Given the description of an element on the screen output the (x, y) to click on. 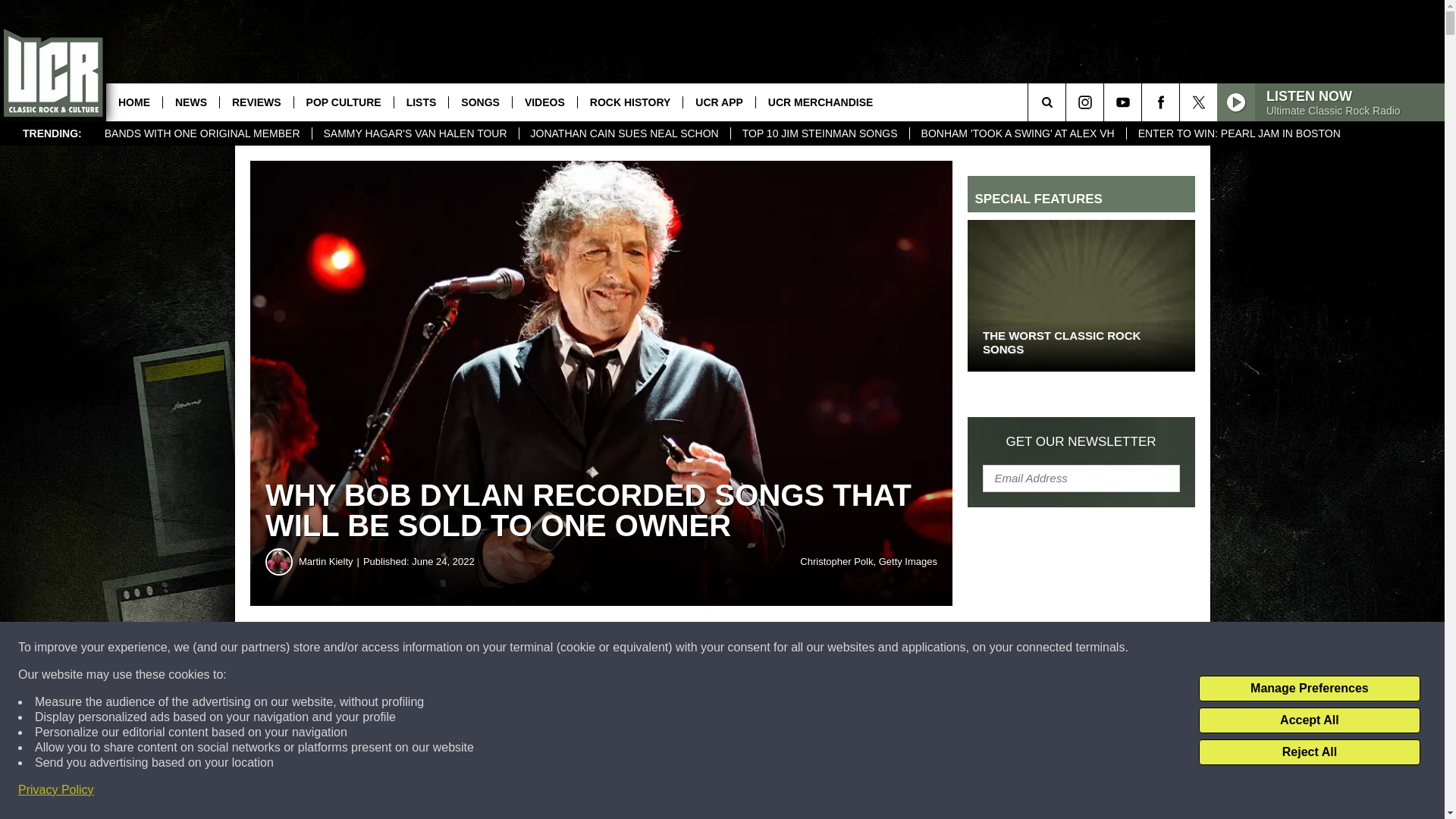
UCR MERCHANDISE (820, 102)
POP CULTURE (343, 102)
ROCK HISTORY (629, 102)
REVIEWS (256, 102)
HOME (133, 102)
SONGS (480, 102)
Privacy Policy (55, 789)
VIDEOS (544, 102)
Visit us on Instagram (1084, 102)
Accept All (1309, 720)
Visit us on Facebook (1160, 102)
TRENDING: (52, 133)
NEWS (190, 102)
Bob Dylan (356, 700)
TOP 10 JIM STEINMAN SONGS (819, 133)
